Given the description of an element on the screen output the (x, y) to click on. 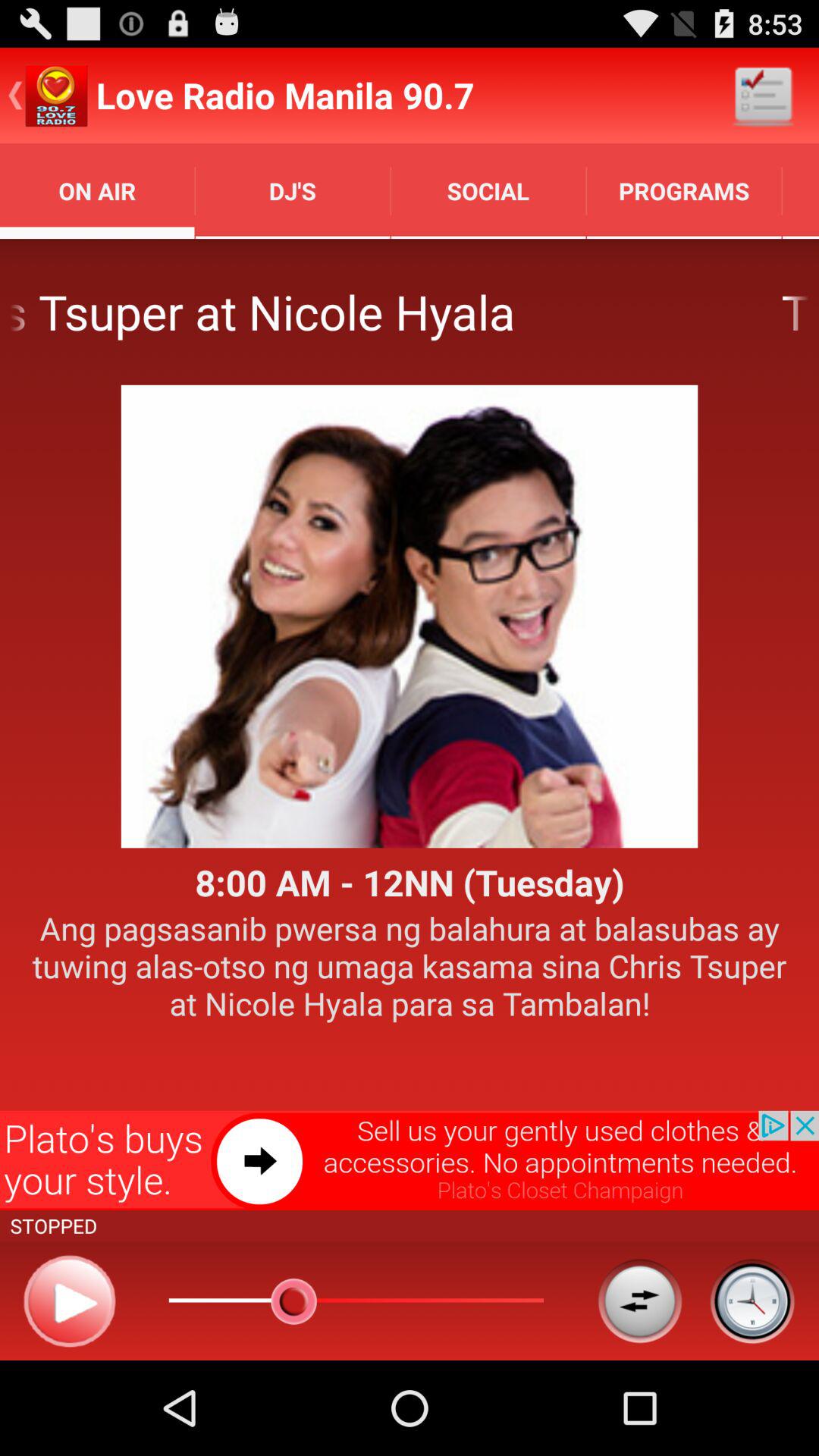
play (69, 1300)
